Given the description of an element on the screen output the (x, y) to click on. 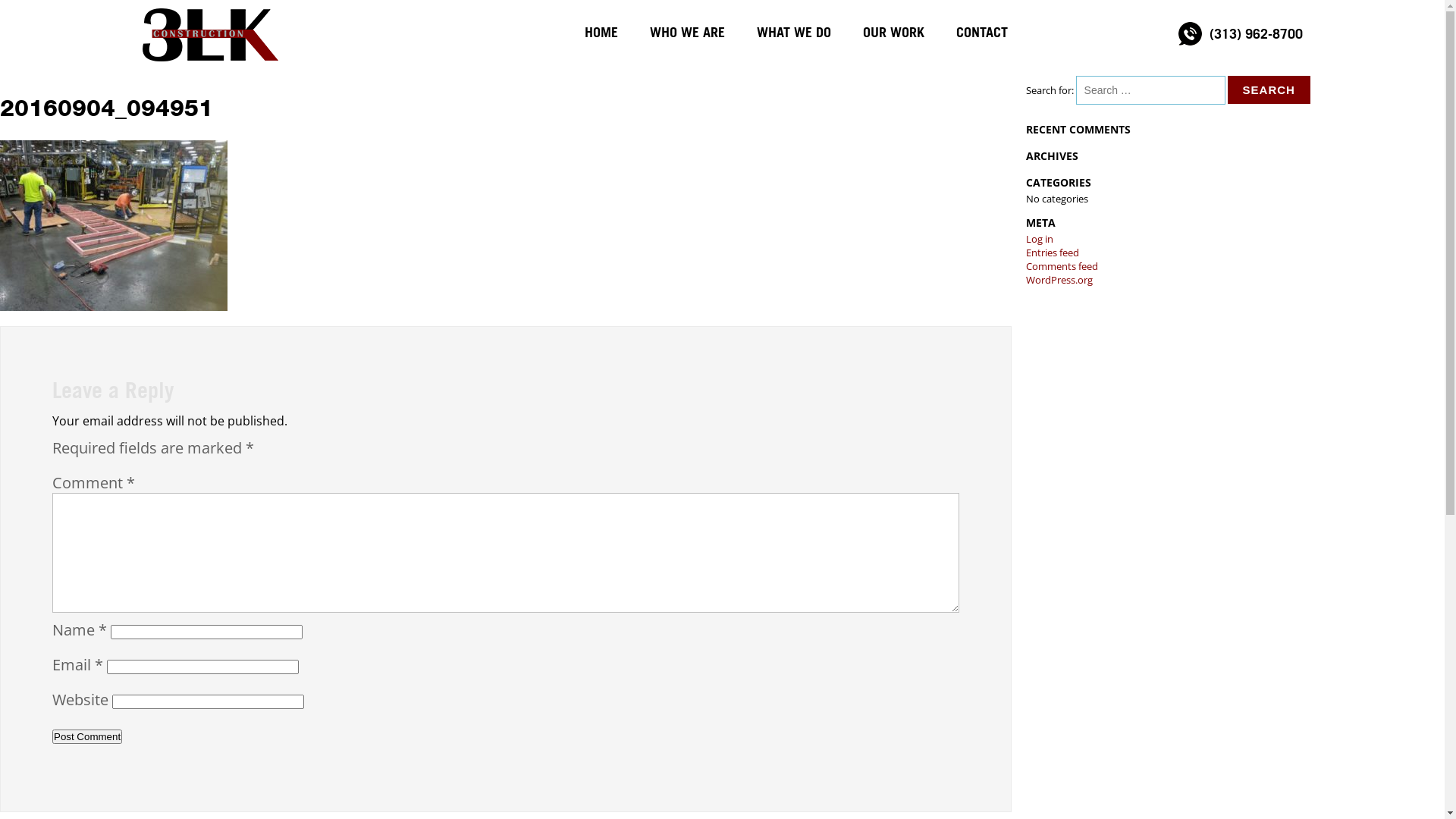
CONTACT Element type: text (981, 32)
SEARCH Element type: text (1268, 89)
Entries feed Element type: text (1052, 252)
WHAT WE DO Element type: text (793, 32)
OUR WORK Element type: text (893, 32)
Log in Element type: text (1039, 238)
WordPress.org Element type: text (1059, 279)
WHO WE ARE Element type: text (686, 32)
(313) 962-8700 Element type: text (1251, 31)
HOME Element type: text (600, 32)
Comments feed Element type: text (1062, 266)
Post Comment Element type: text (87, 736)
